Given the description of an element on the screen output the (x, y) to click on. 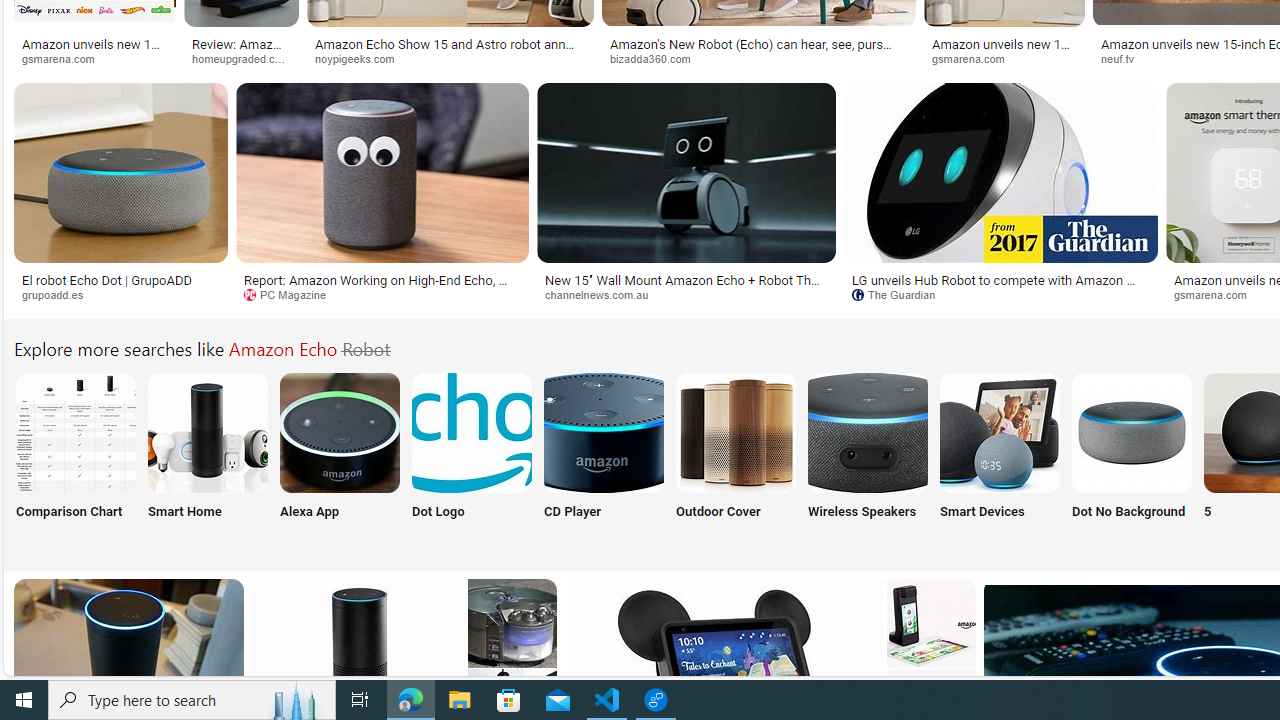
Image result for Amazon Echo Robot (1000, 172)
El robot Echo Dot | GrupoADDgrupoadd.esSave (124, 196)
Amazon Echo Smart Home (207, 432)
PC Magazine (382, 295)
Amazon Echo Comparison Chart (75, 432)
Wireless Speakers (867, 457)
Alexa App (339, 457)
channelnews.com.au (686, 295)
Amazon Echo Dot Photo No Background (1131, 432)
